Given the description of an element on the screen output the (x, y) to click on. 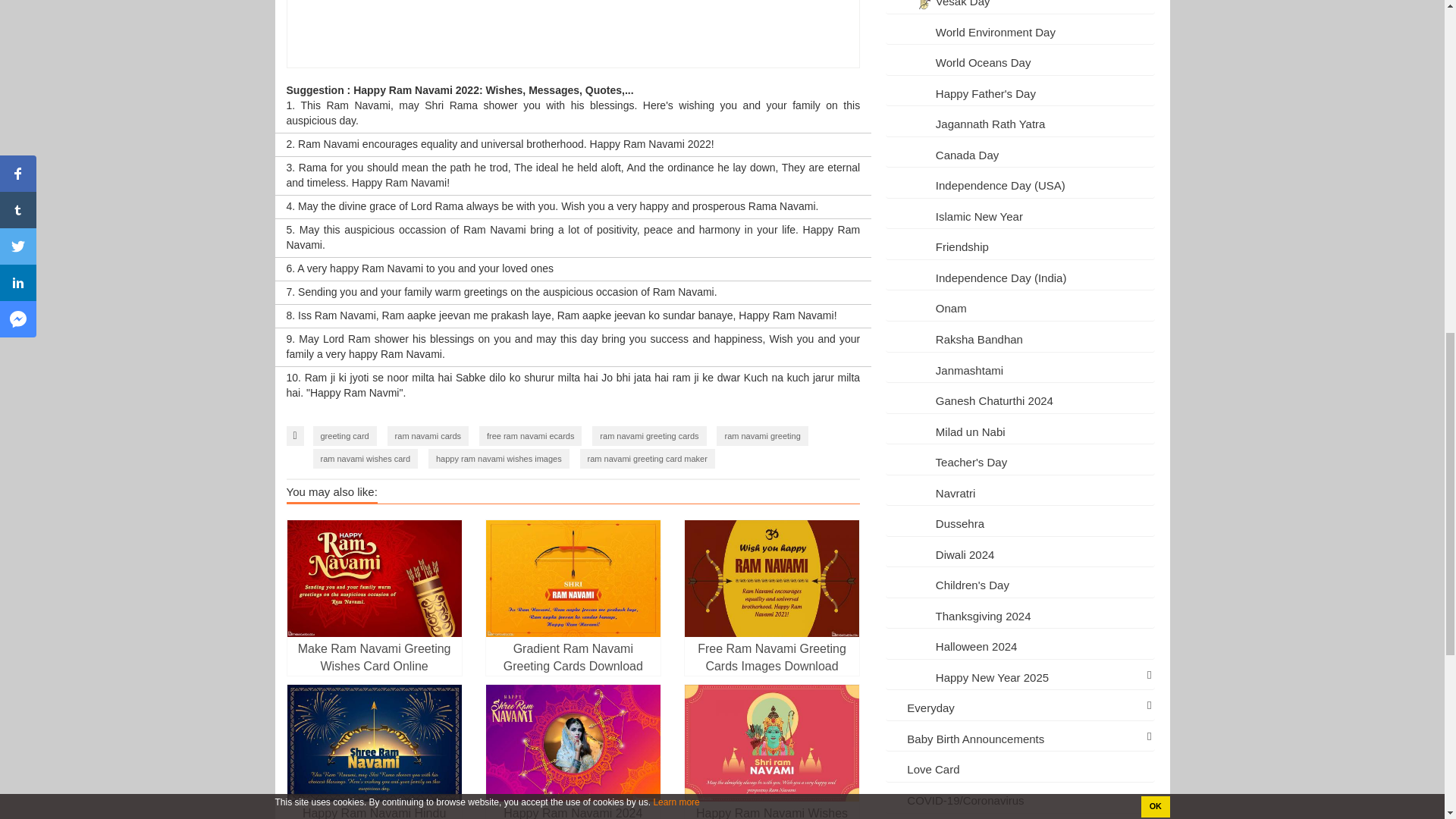
ram navami wishes card (365, 458)
Advertisement (572, 33)
ram navami greeting card maker (646, 458)
happy ram navami wishes images (498, 458)
ram navami greeting (762, 435)
greeting card (344, 435)
ram navami greeting cards (649, 435)
ram navami cards (427, 435)
free ram navami ecards (530, 435)
